Given the description of an element on the screen output the (x, y) to click on. 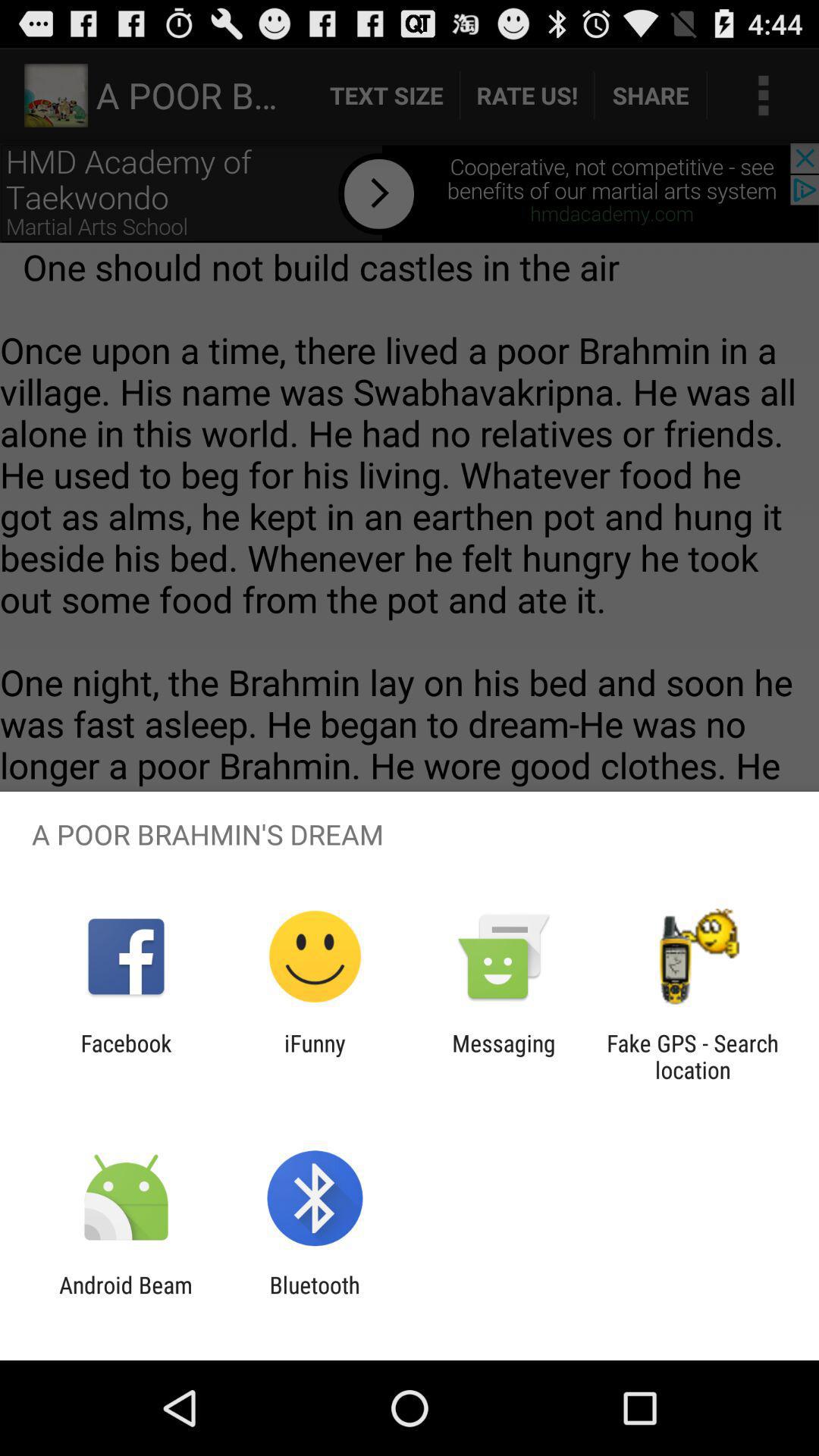
open messaging (503, 1056)
